Given the description of an element on the screen output the (x, y) to click on. 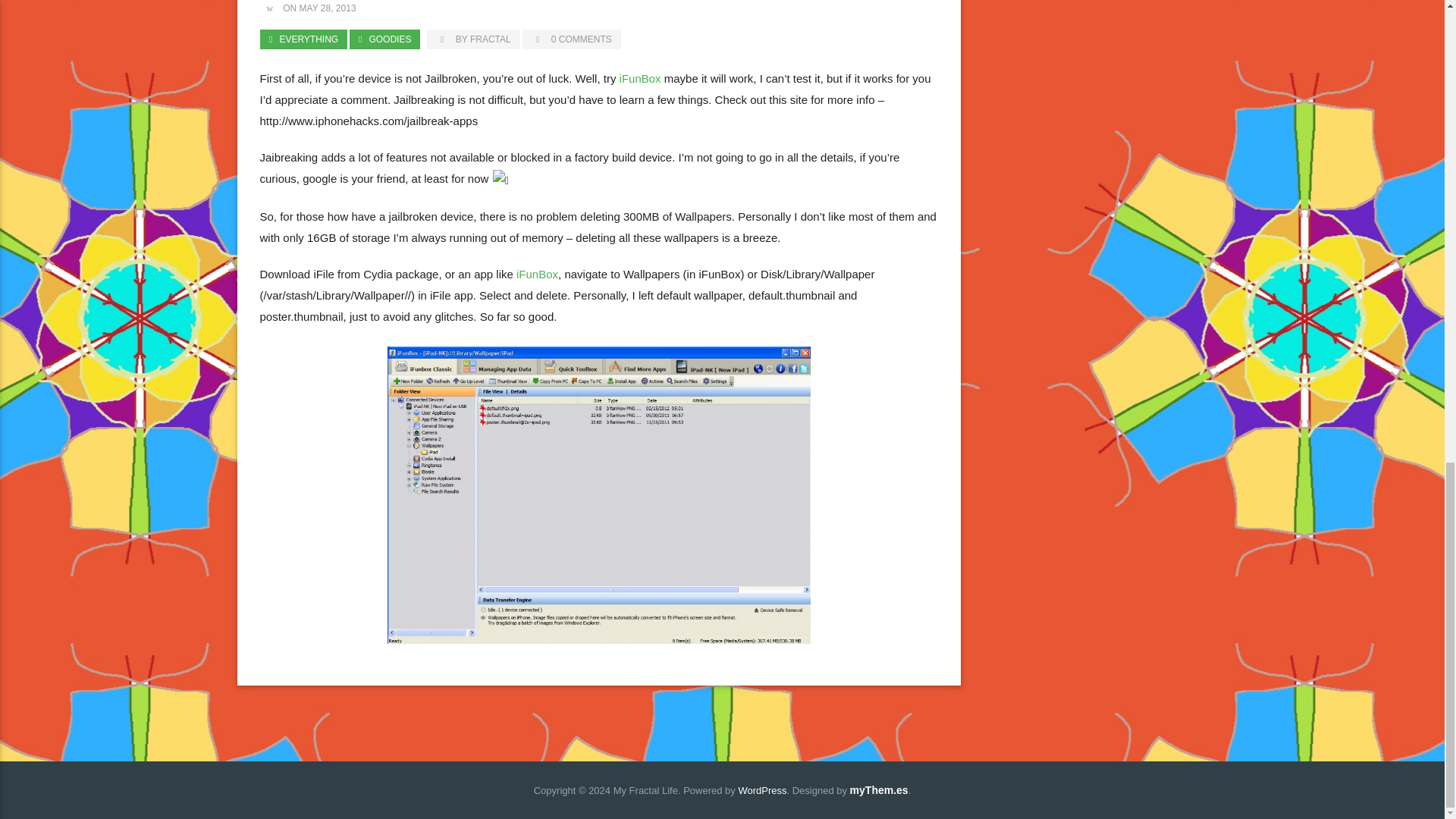
GOODIES (384, 39)
written by Fractal (472, 39)
EVERYTHING (302, 39)
iFunBox (536, 273)
BY FRACTAL (472, 39)
WordPress (762, 790)
myThem.es (879, 789)
myThem.es (879, 789)
iFunBox (640, 78)
0 COMMENTS (571, 39)
